Given the description of an element on the screen output the (x, y) to click on. 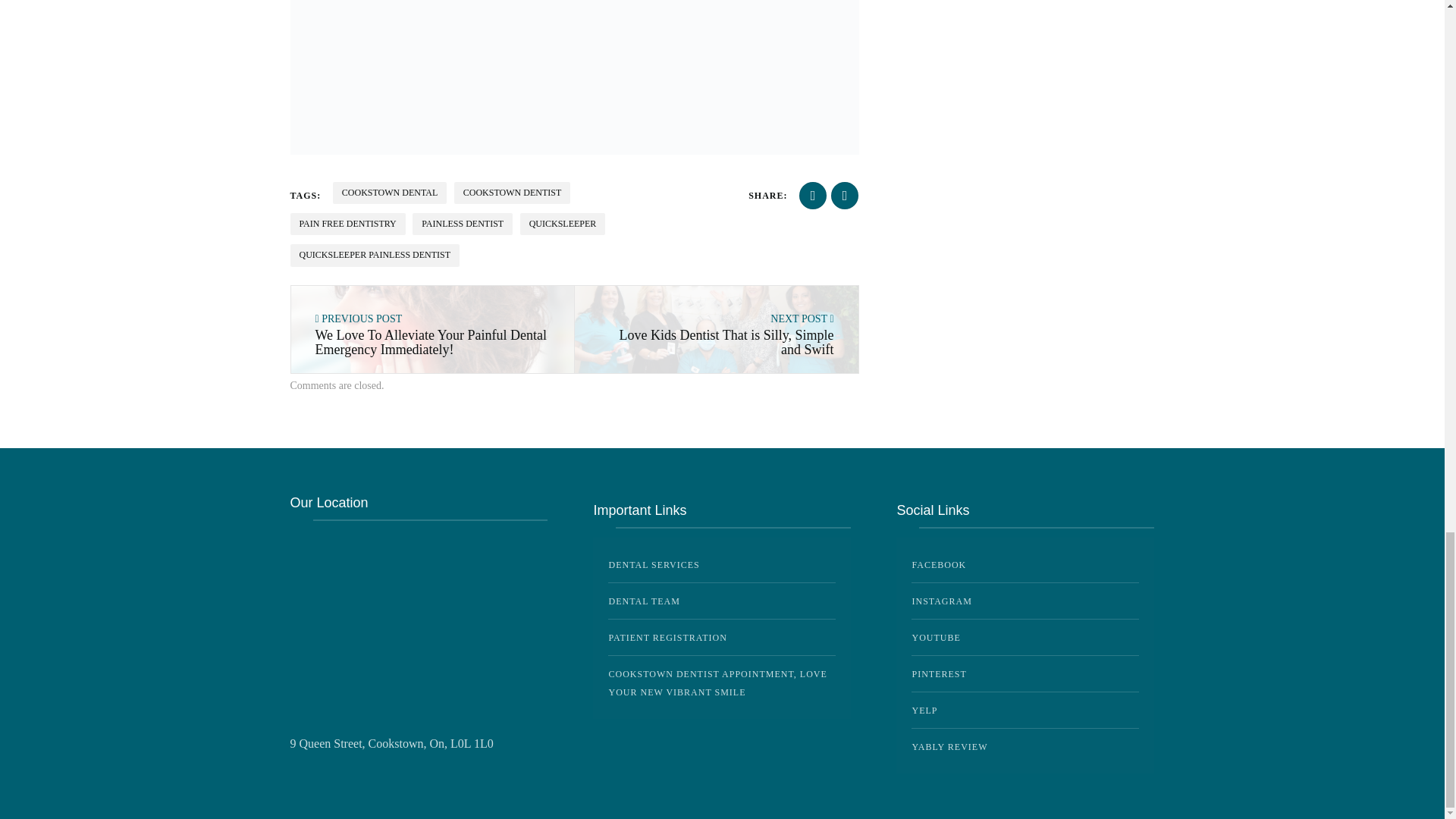
QUICKSLEEPER PAINLESS DENTIST (374, 255)
COOKSTOWN DENTAL (389, 192)
PAINLESS DENTIST (462, 223)
COOKSTOWN DENTIST (512, 192)
PAIN FREE DENTISTRY (346, 223)
Share on Facebook (813, 195)
QUICKSLEEPER (562, 223)
Tweet (845, 195)
